Given the description of an element on the screen output the (x, y) to click on. 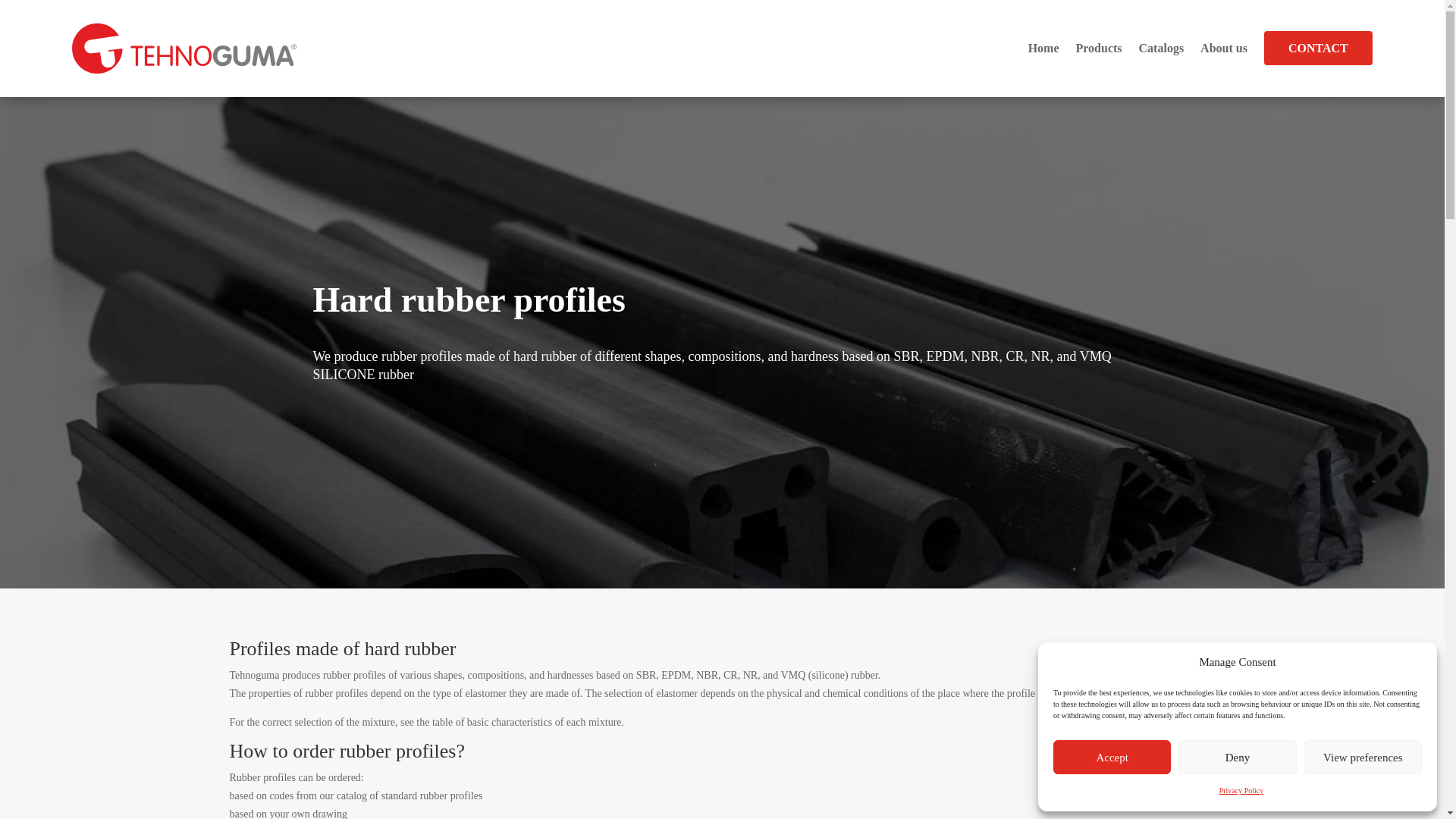
Accept (1111, 756)
CONTACT (1318, 48)
Products (1098, 48)
About us (1223, 48)
Deny (1236, 756)
Privacy Policy (1241, 791)
Home (1043, 48)
View preferences (1363, 756)
Catalogs (1161, 48)
